Given the description of an element on the screen output the (x, y) to click on. 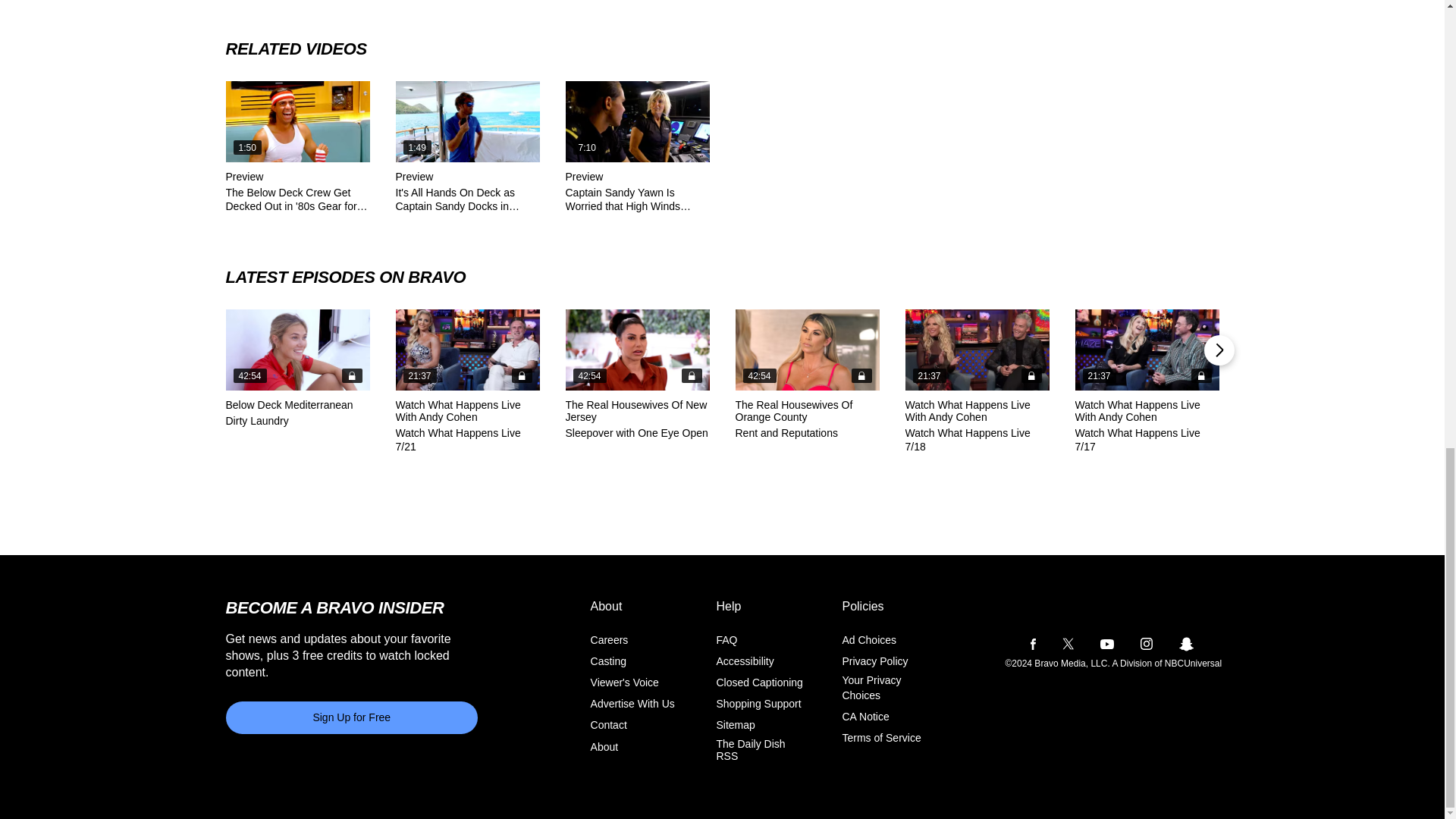
Sleepover with One Eye Open (638, 349)
Rent and Reputations (807, 349)
Dirty Laundry (297, 349)
